Given the description of an element on the screen output the (x, y) to click on. 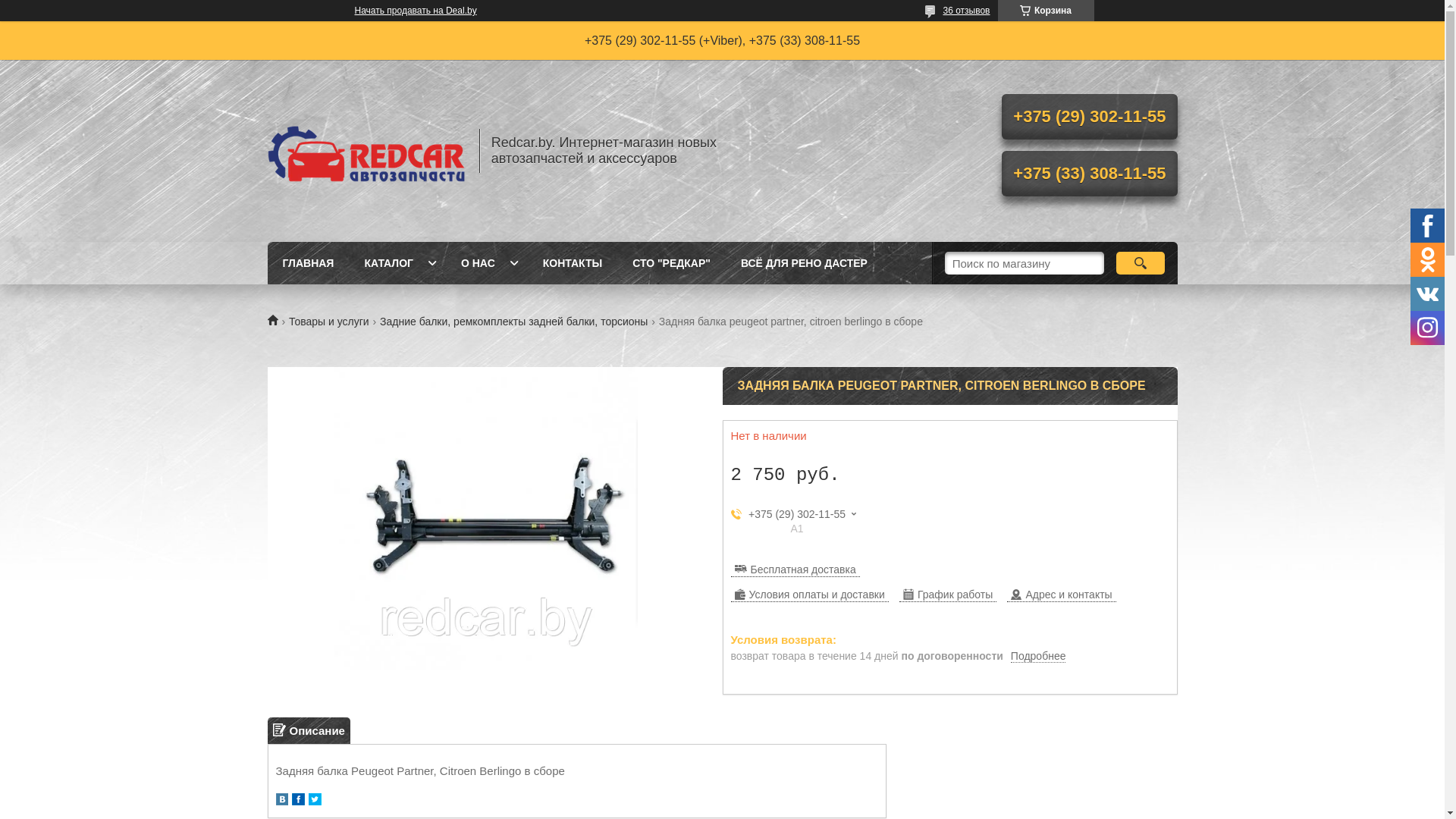
twitter Element type: hover (313, 800)
facebook Element type: hover (297, 800)
